Given the description of an element on the screen output the (x, y) to click on. 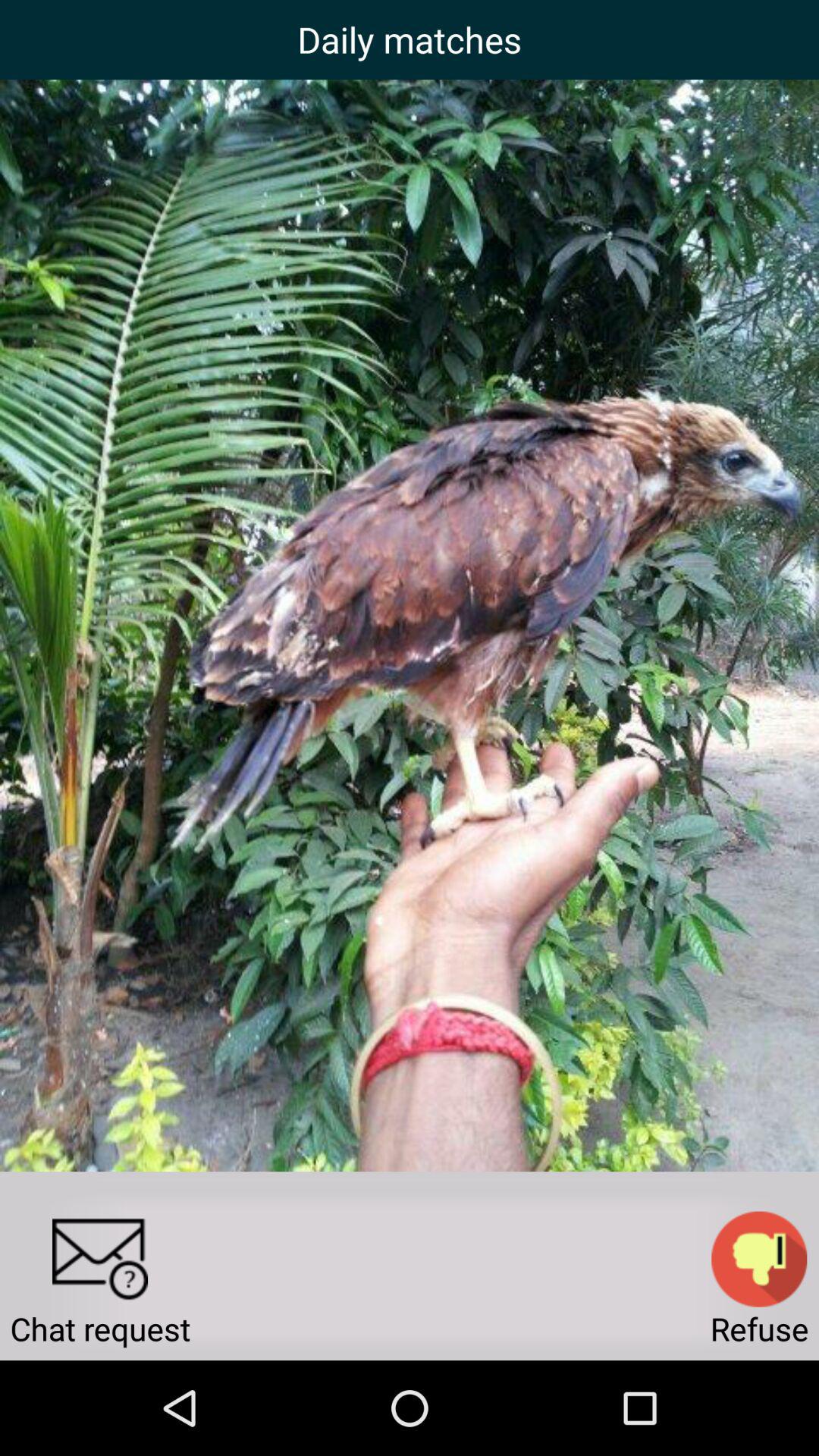
chat request (99, 1258)
